Given the description of an element on the screen output the (x, y) to click on. 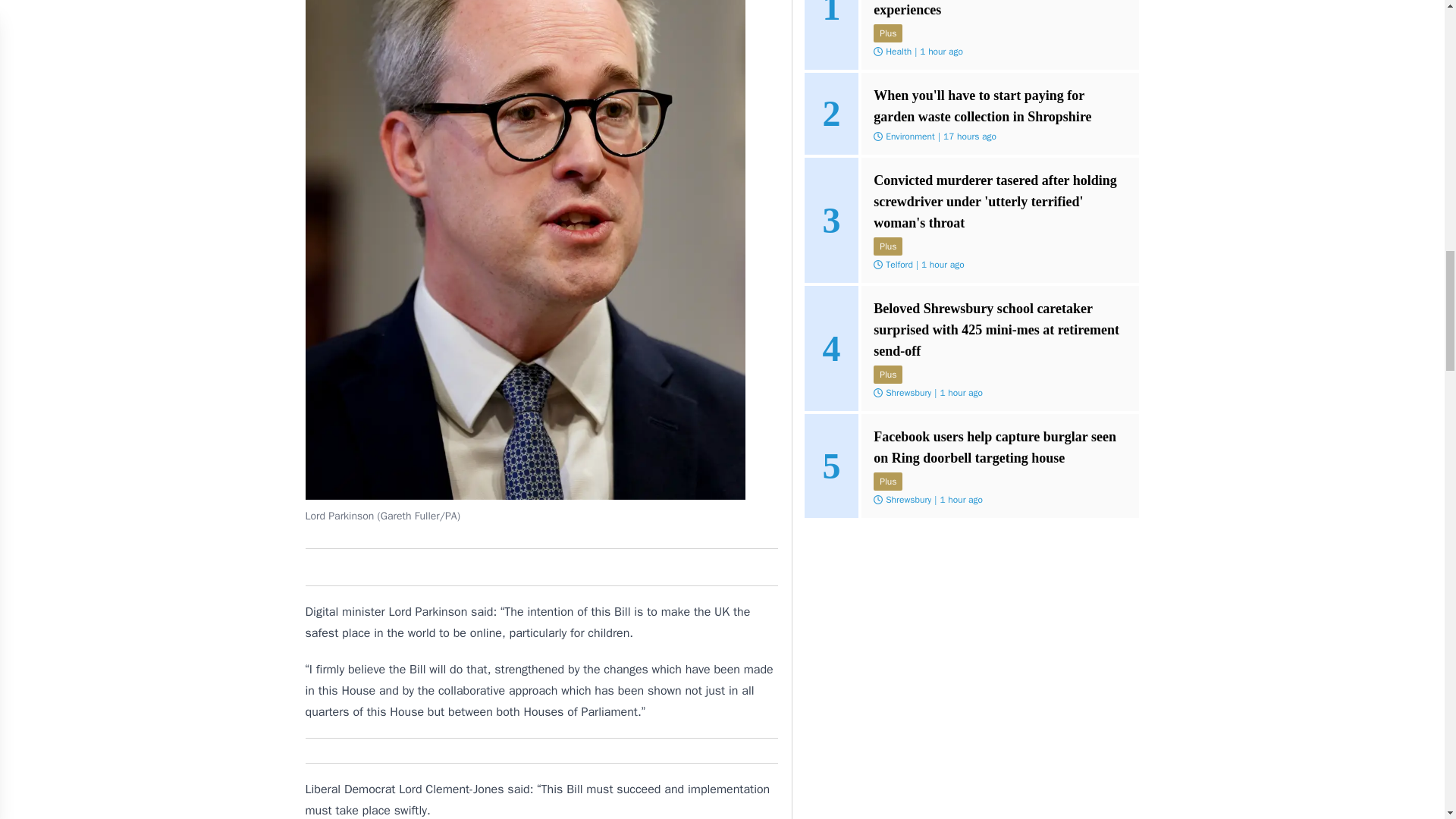
Telford (898, 264)
Shrewsbury (908, 392)
Health (898, 51)
Shrewsbury (908, 499)
Environment (909, 136)
